Given the description of an element on the screen output the (x, y) to click on. 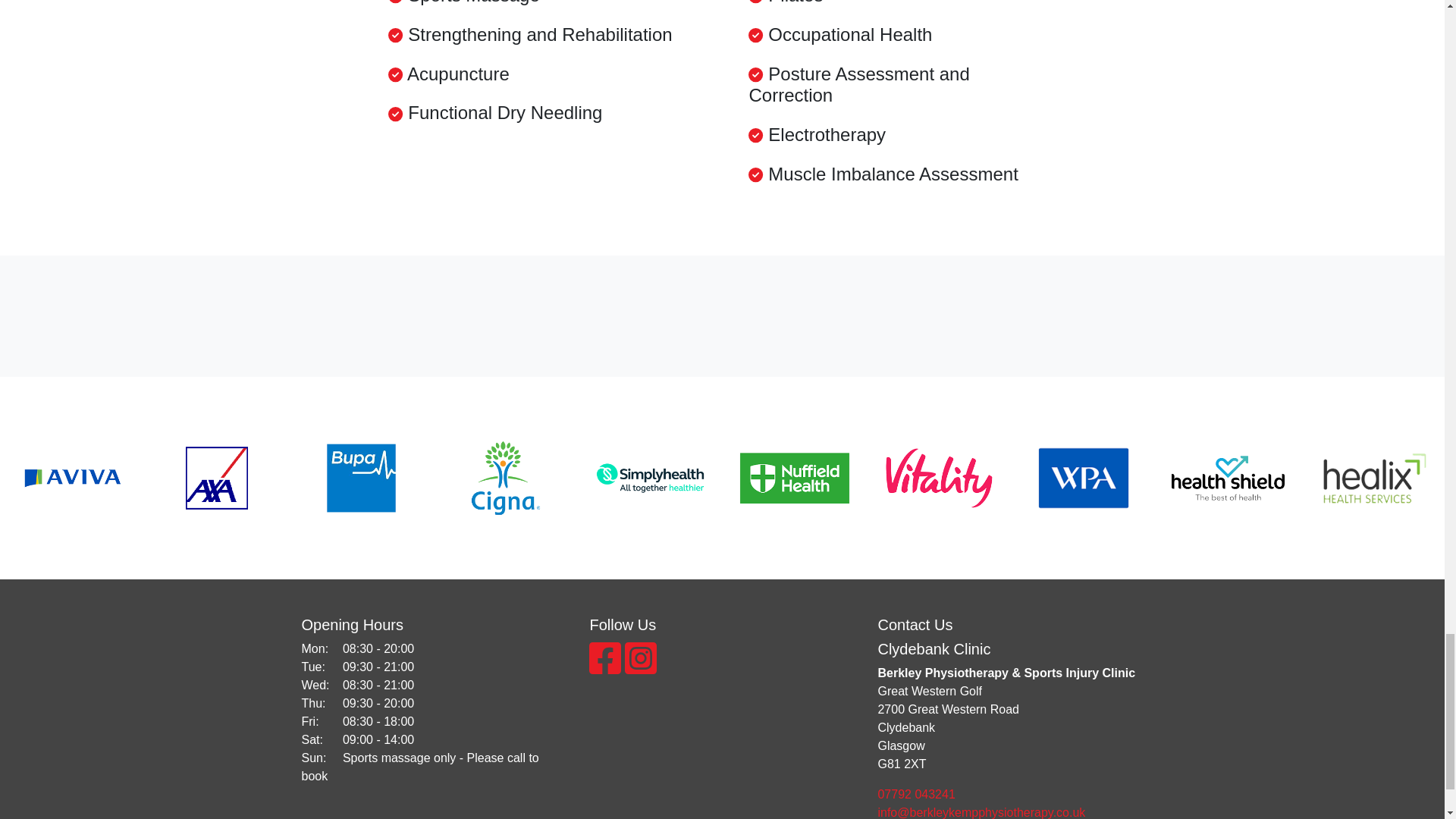
Opens in a New Window - Facebook (606, 667)
07792 043241 (1009, 794)
Opens in a New Window - Instagram (640, 667)
